Given the description of an element on the screen output the (x, y) to click on. 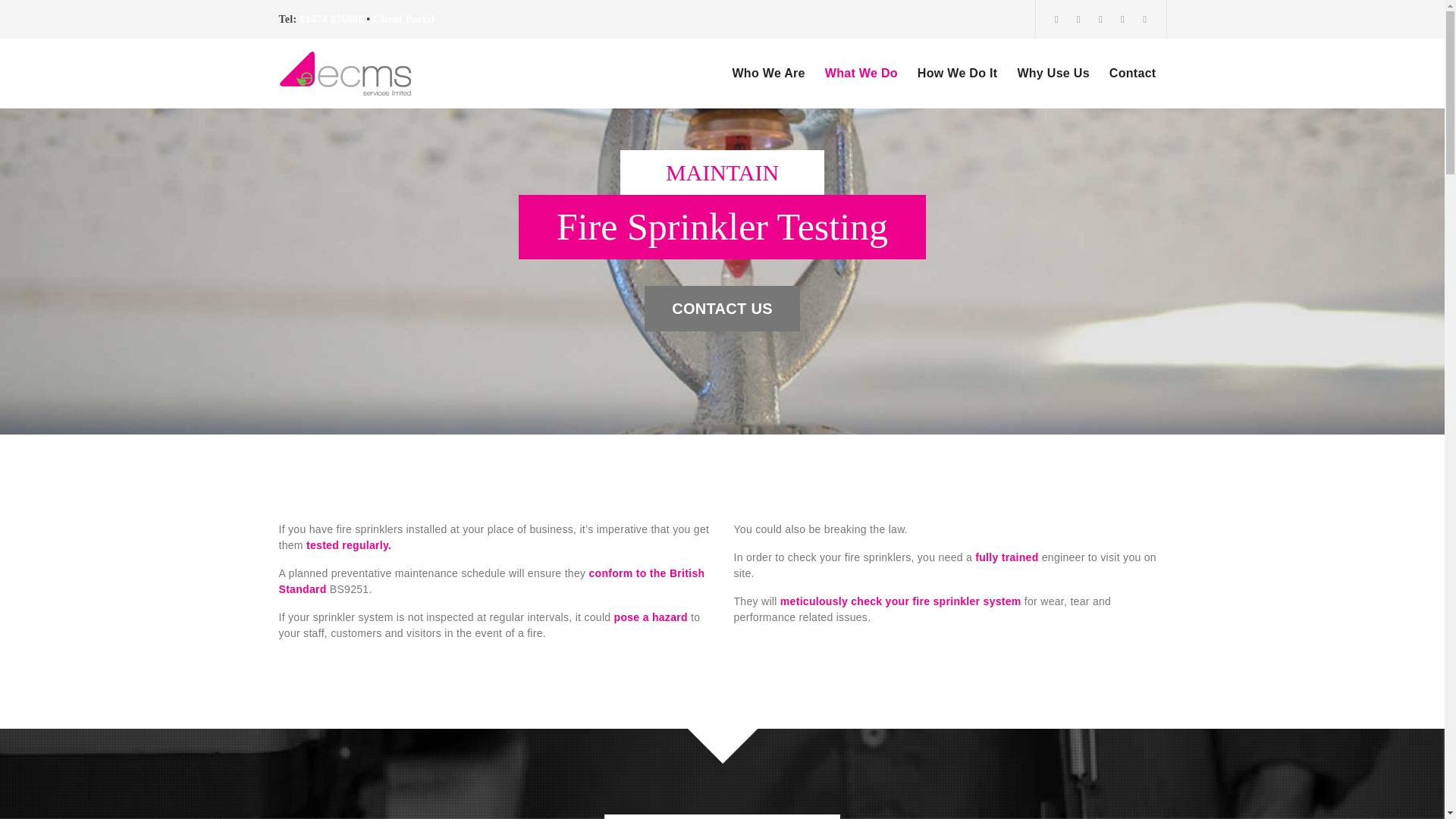
Arrow Down White (722, 732)
01474 876800 (330, 19)
Client Portal (402, 19)
